Given the description of an element on the screen output the (x, y) to click on. 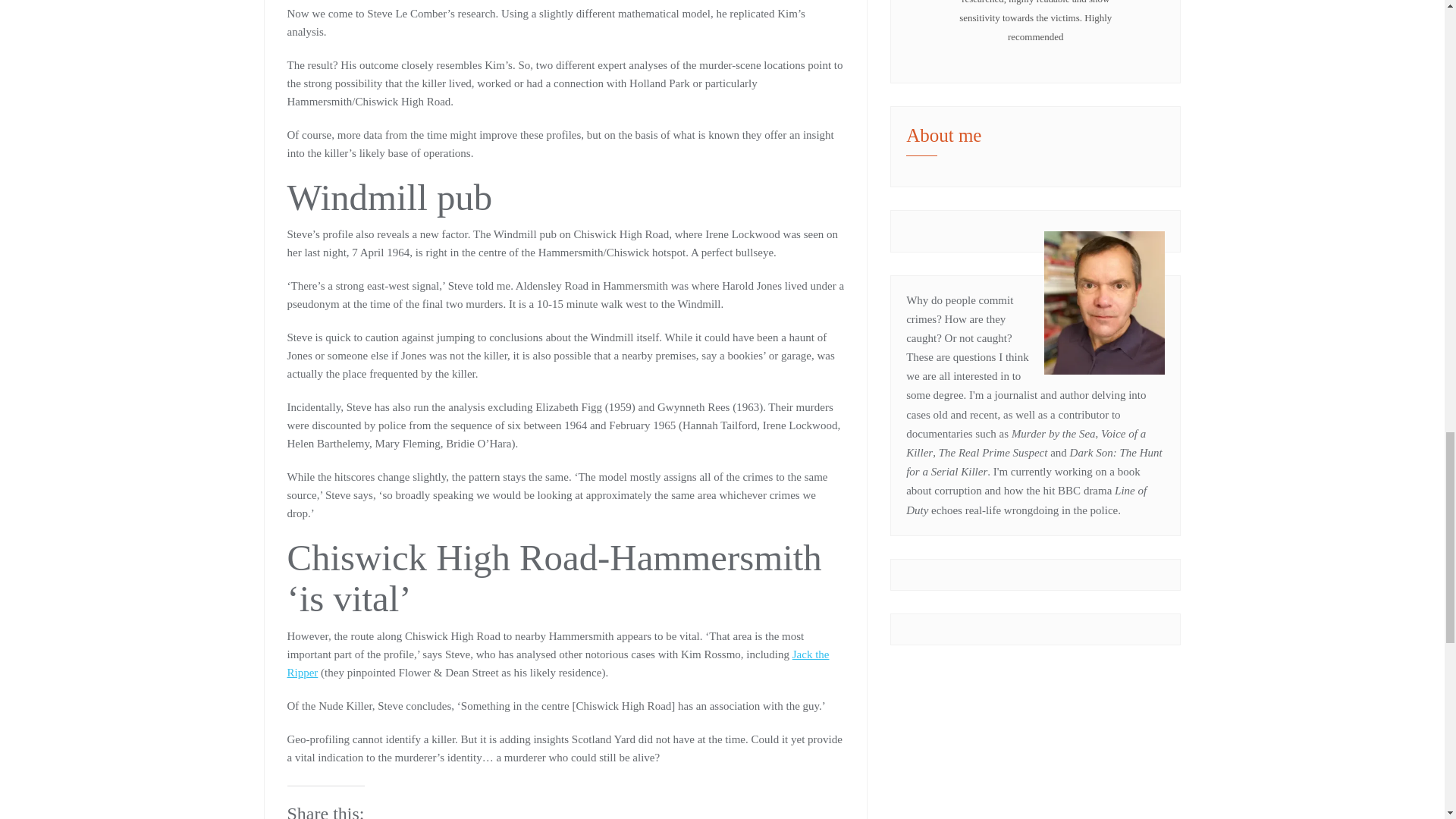
Jack the Ripper (557, 663)
